Given the description of an element on the screen output the (x, y) to click on. 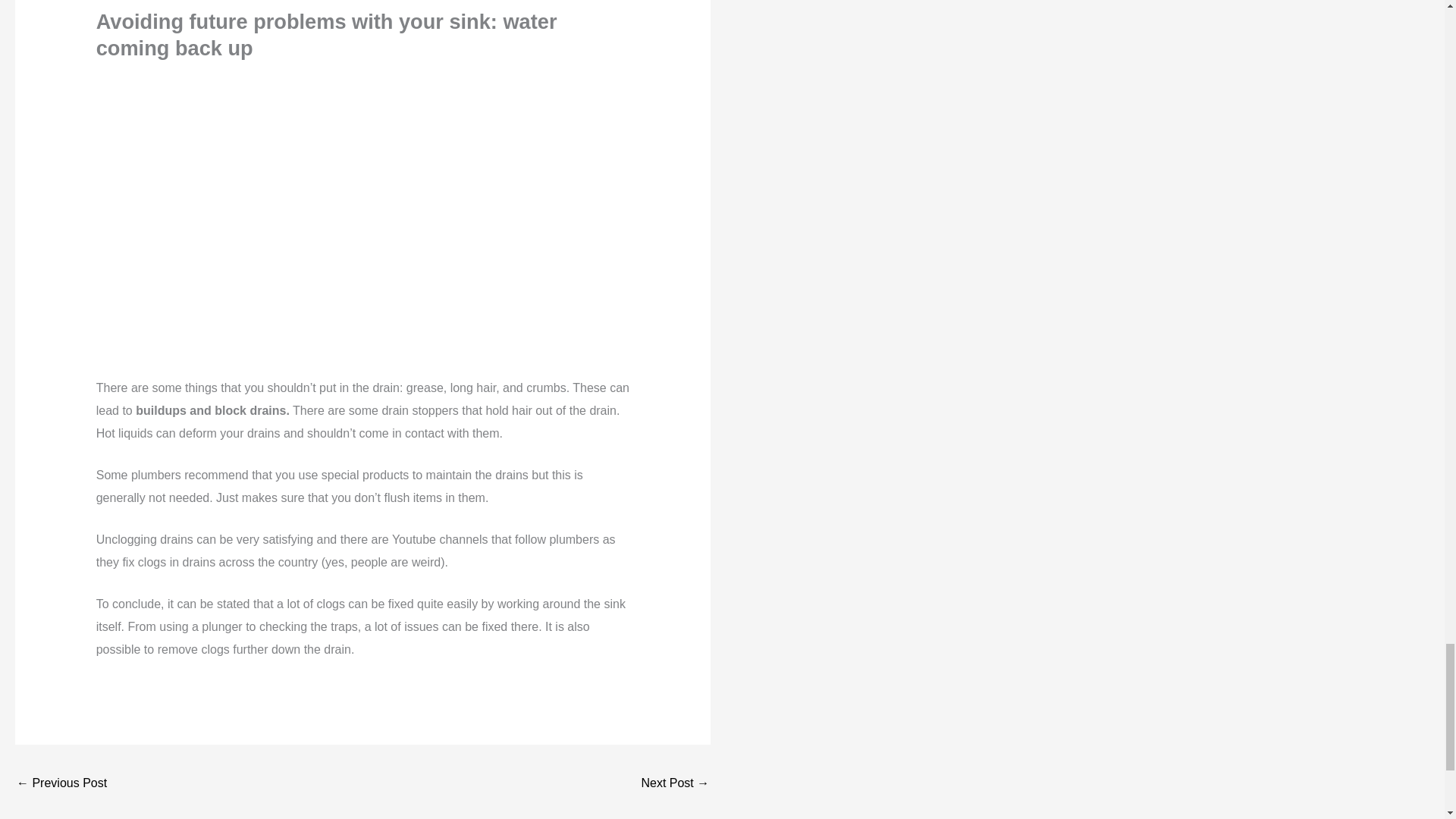
Kitchen sink and drain clogged with grease: how to unclog (674, 784)
